Given the description of an element on the screen output the (x, y) to click on. 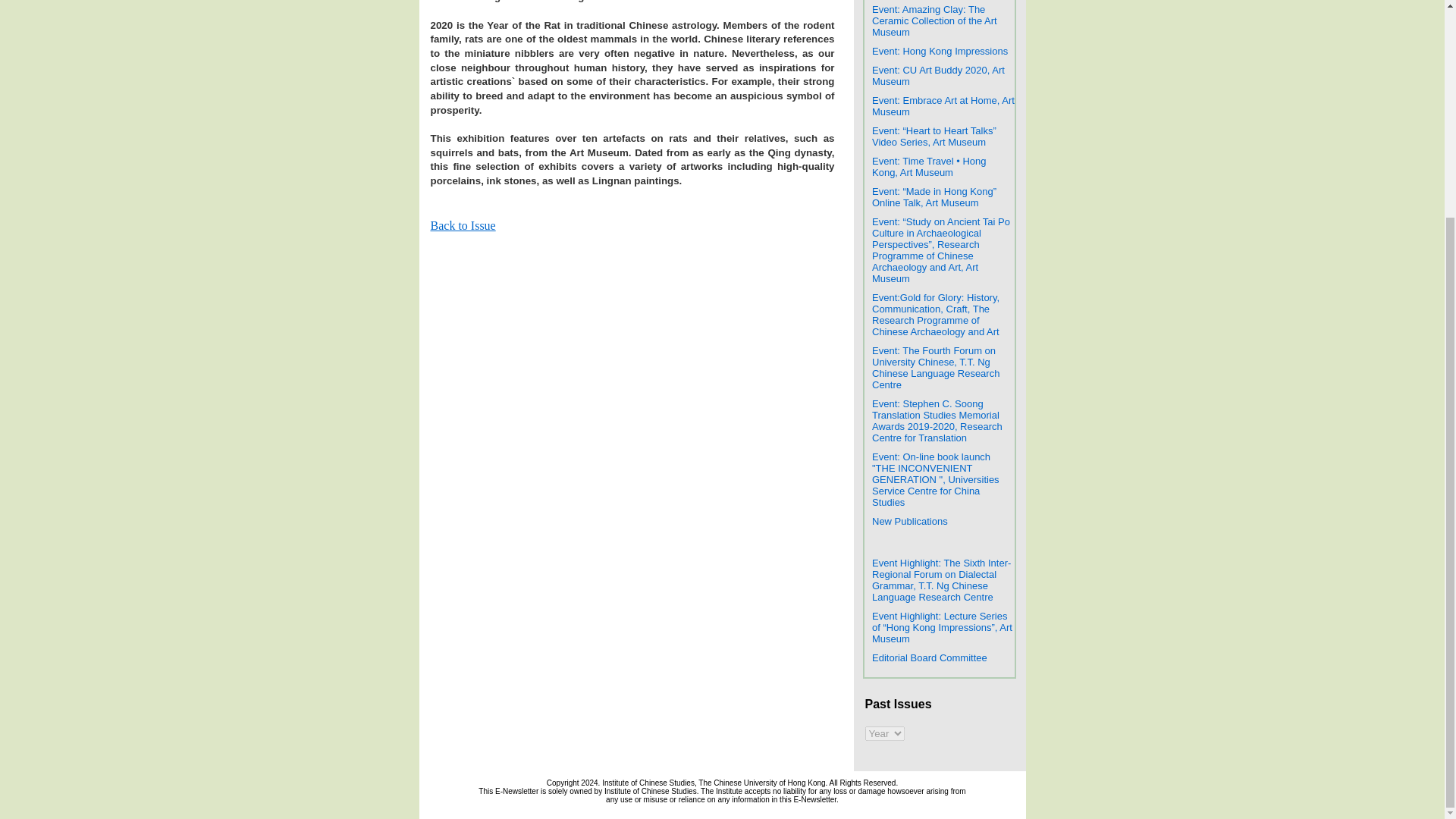
Editorial Board Committee (929, 656)
New Publications (909, 520)
Event: Embrace Art at Home, Art Museum (943, 105)
Event: Hong Kong Impressions (939, 50)
Back to Issue (463, 225)
Event: CU Art Buddy 2020, Art Museum (938, 74)
